Given the description of an element on the screen output the (x, y) to click on. 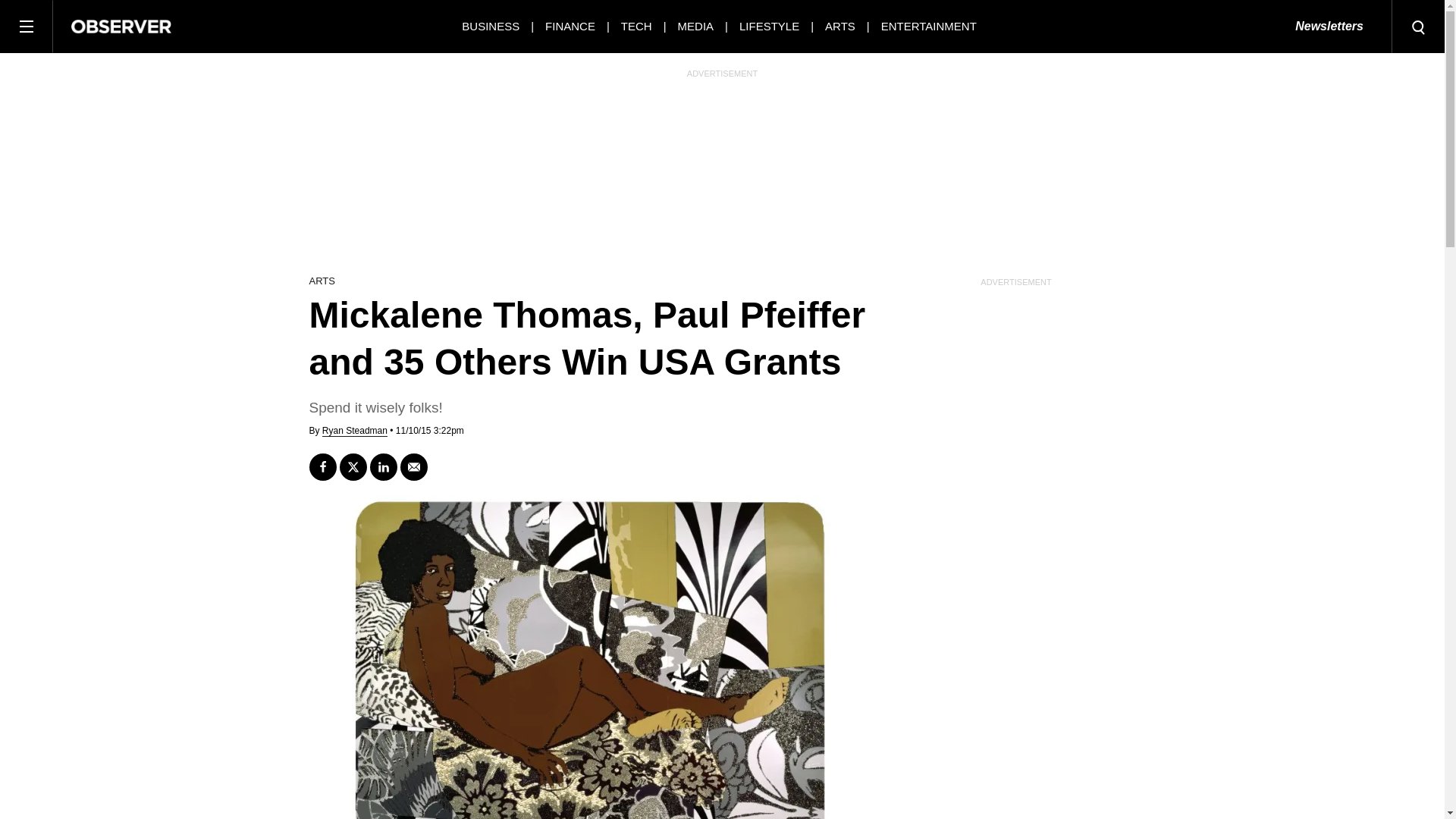
MEDIA (696, 25)
Tweet (352, 466)
View All Posts by Ryan Steadman (354, 430)
Share on Facebook (322, 466)
TECH (636, 25)
Share on LinkedIn (383, 466)
Send email (414, 466)
ENTERTAINMENT (928, 25)
FINANCE (569, 25)
Newsletters (1329, 26)
